Given the description of an element on the screen output the (x, y) to click on. 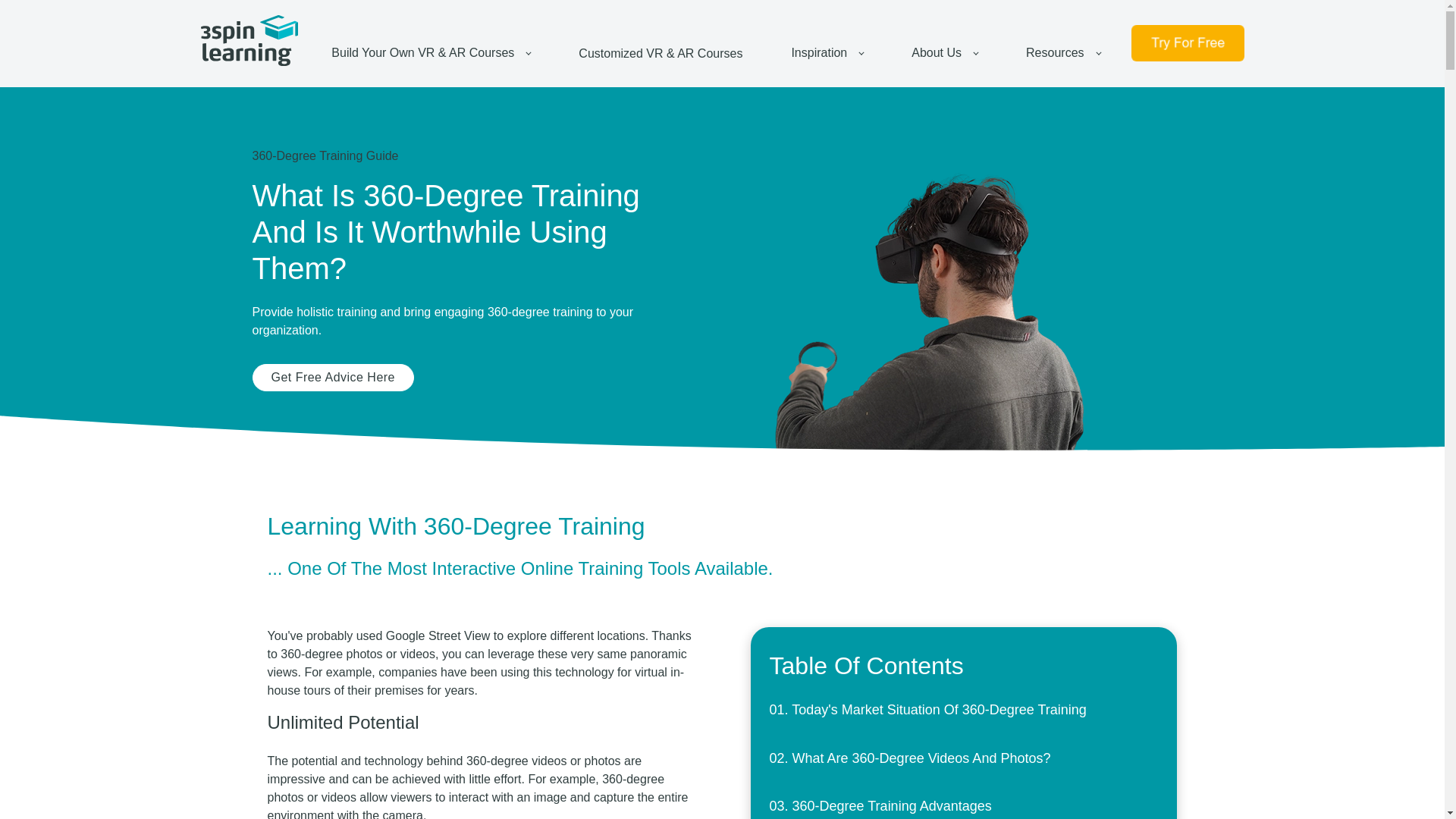
03. 360-Degree Training Advantages Element type: text (880, 805)
Customized VR & AR Courses Element type: text (660, 53)
Resources Element type: text (1062, 52)
02. What Are 360-Degree Videos And Photos? Element type: text (910, 757)
01. Today's Market Situation Of 360-Degree Training Element type: text (927, 709)
About Us Element type: text (944, 52)
Build Your Own VR & AR Courses Element type: text (430, 52)
Inspiration Element type: text (826, 52)
Get Free Advice Here Element type: text (332, 377)
